Given the description of an element on the screen output the (x, y) to click on. 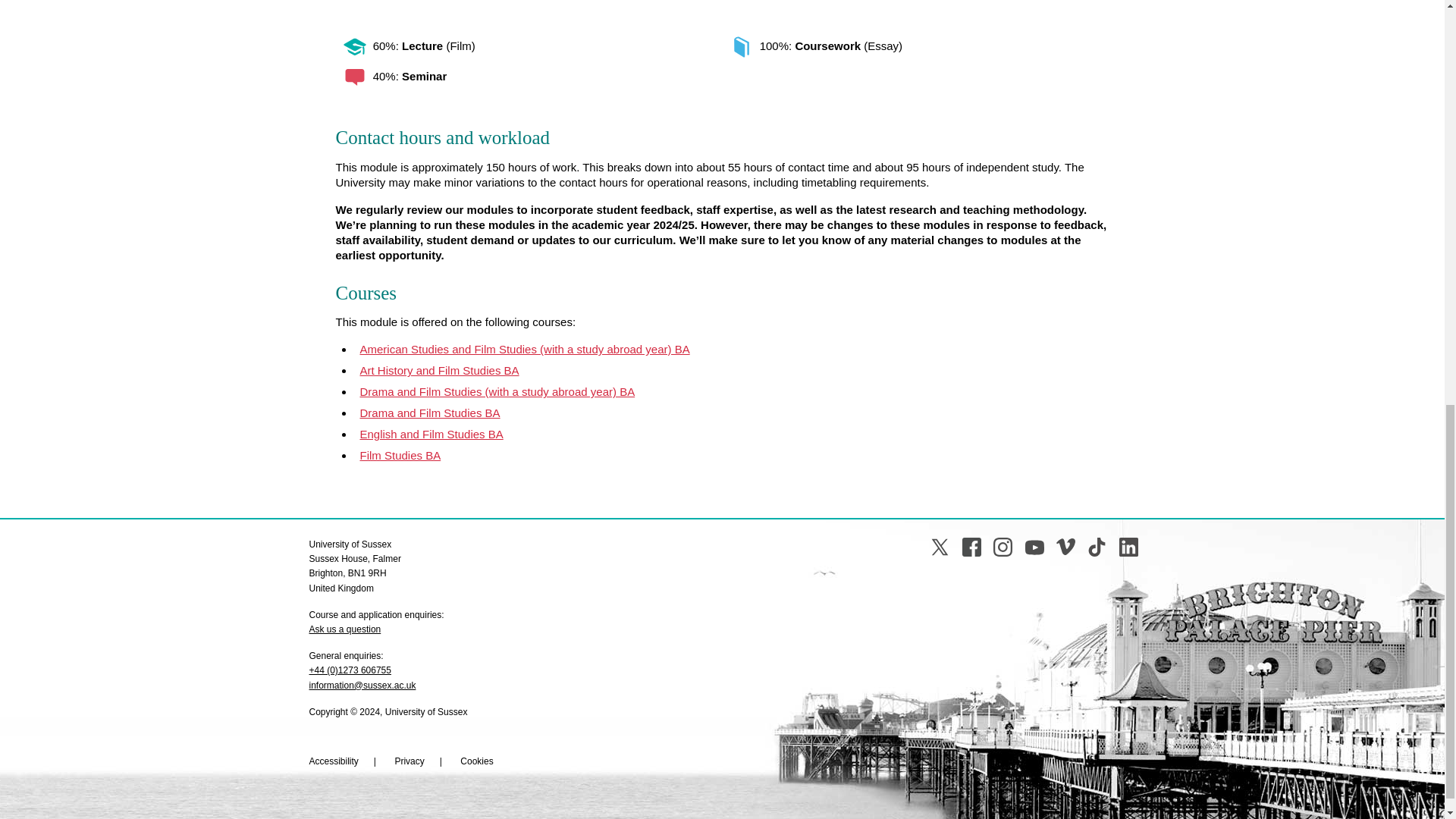
Twitter (939, 546)
Facebook (971, 546)
Tiktok (1096, 546)
Vimeo (1066, 546)
Linkedin (1128, 546)
Instagram (1001, 546)
YouTube (1034, 546)
